Given the description of an element on the screen output the (x, y) to click on. 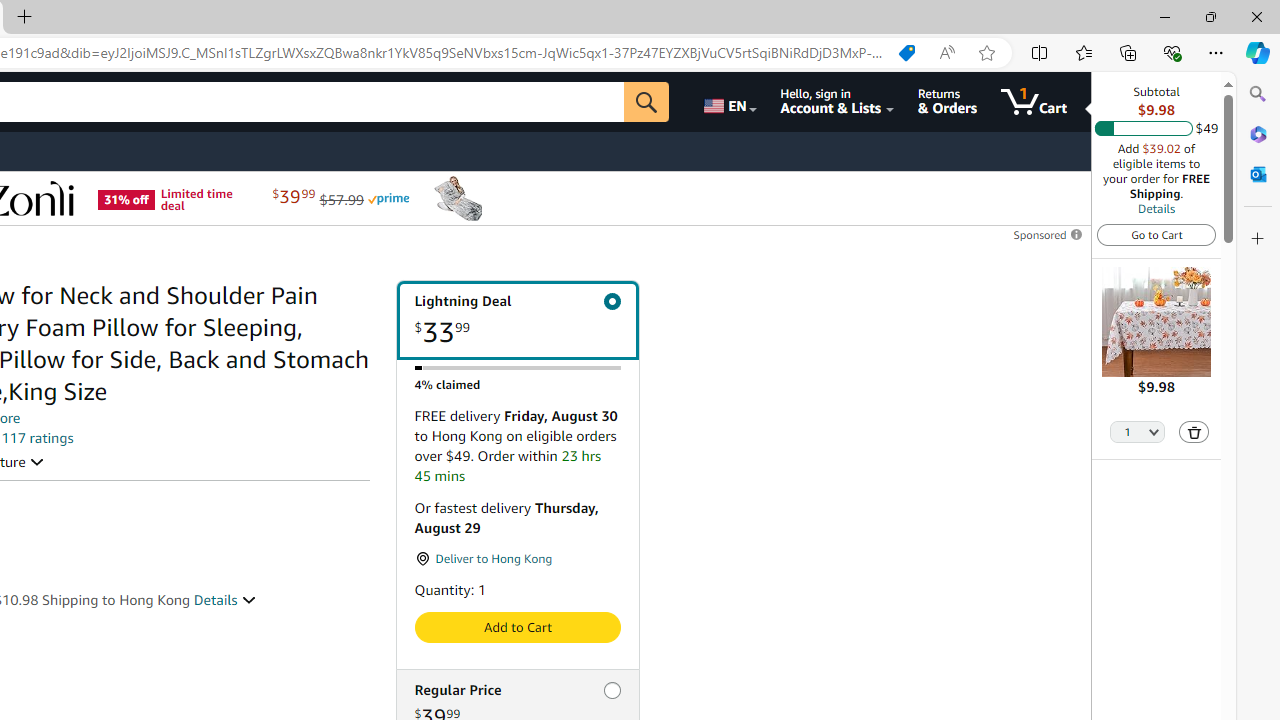
117 ratings (37, 438)
Lightning Deal $33.99 (516, 320)
